Given the description of an element on the screen output the (x, y) to click on. 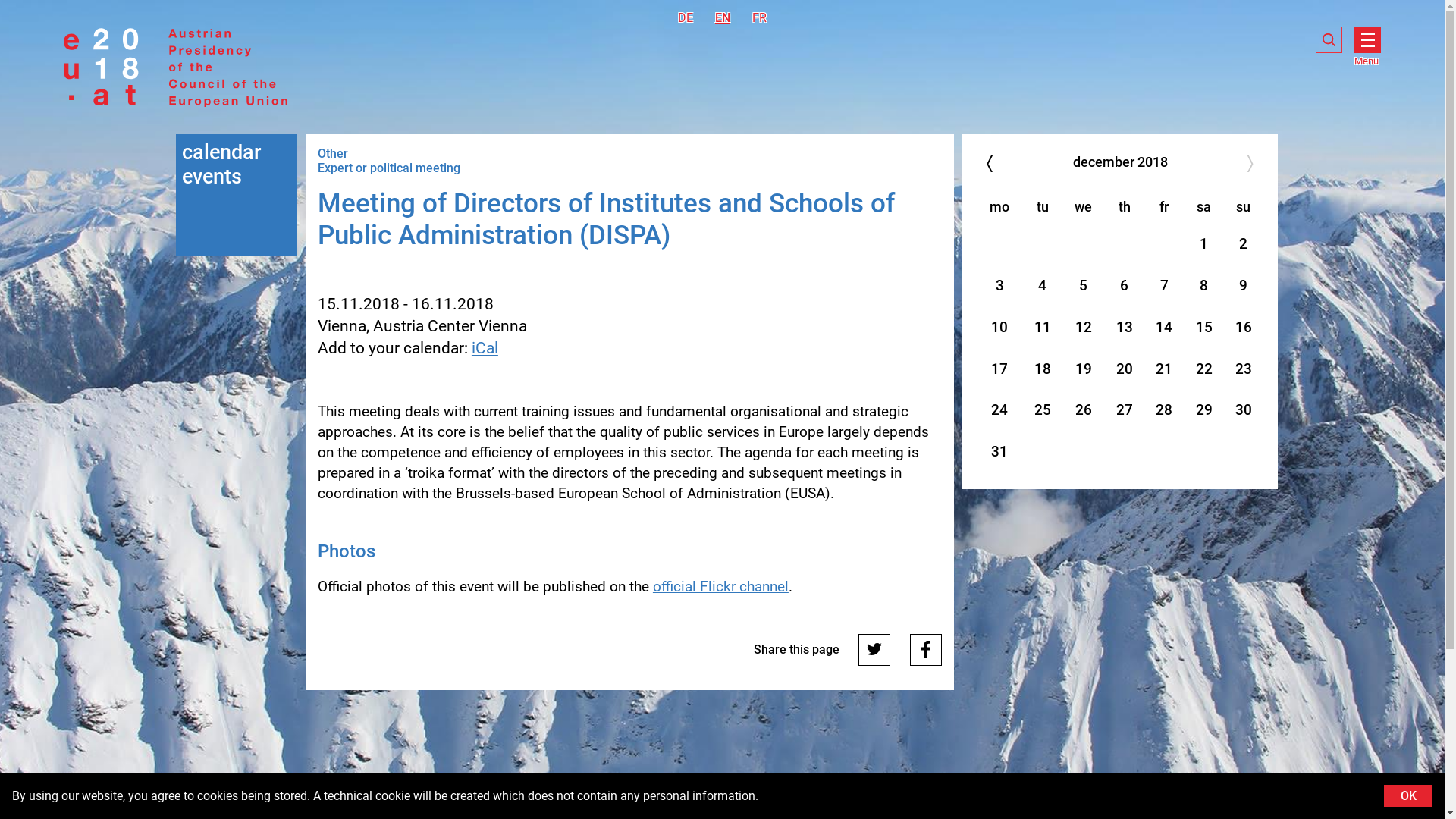
Search (1329, 39)
Monday (999, 206)
OK (1408, 795)
Next (1251, 163)
Wednesday (1083, 206)
Deutsch (685, 17)
Go to navigation (722, 17)
Prev (685, 17)
